Given the description of an element on the screen output the (x, y) to click on. 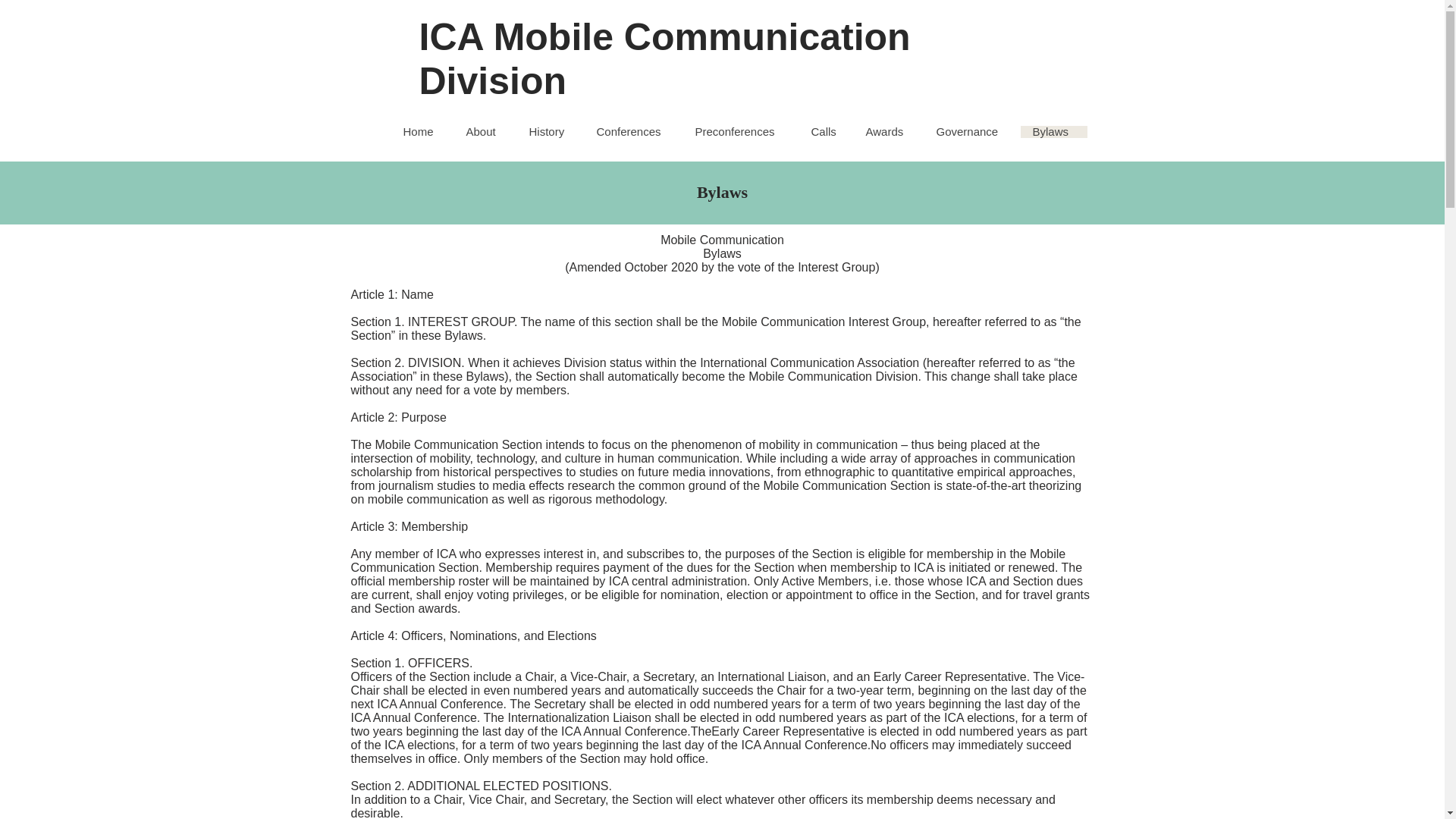
Calls (826, 132)
Home (421, 132)
About (484, 132)
History (550, 132)
Governance (971, 132)
Bylaws (1053, 132)
Preconferences (739, 132)
Conferences (632, 132)
Awards (888, 132)
